Given the description of an element on the screen output the (x, y) to click on. 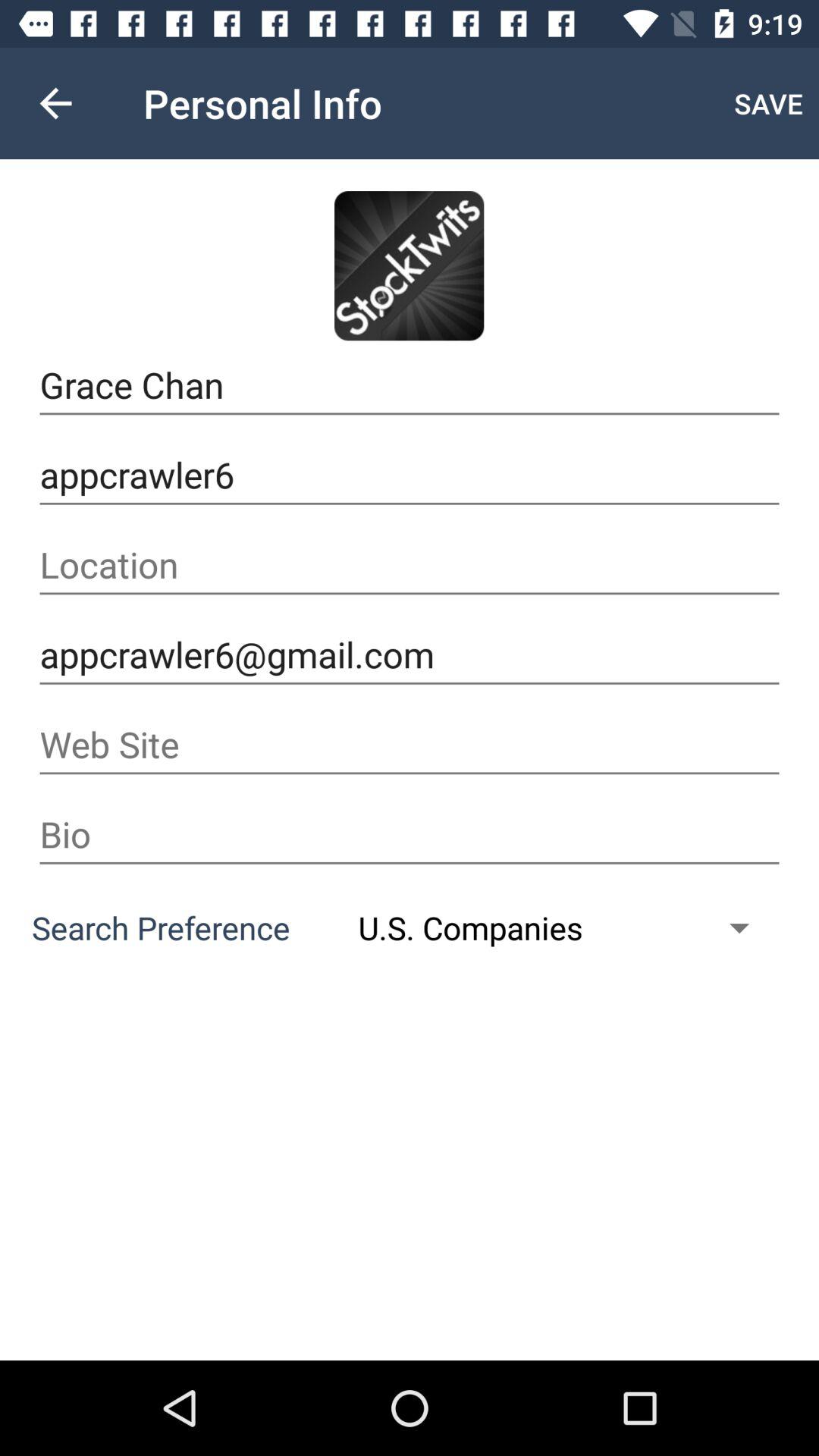
jump until save item (768, 103)
